Given the description of an element on the screen output the (x, y) to click on. 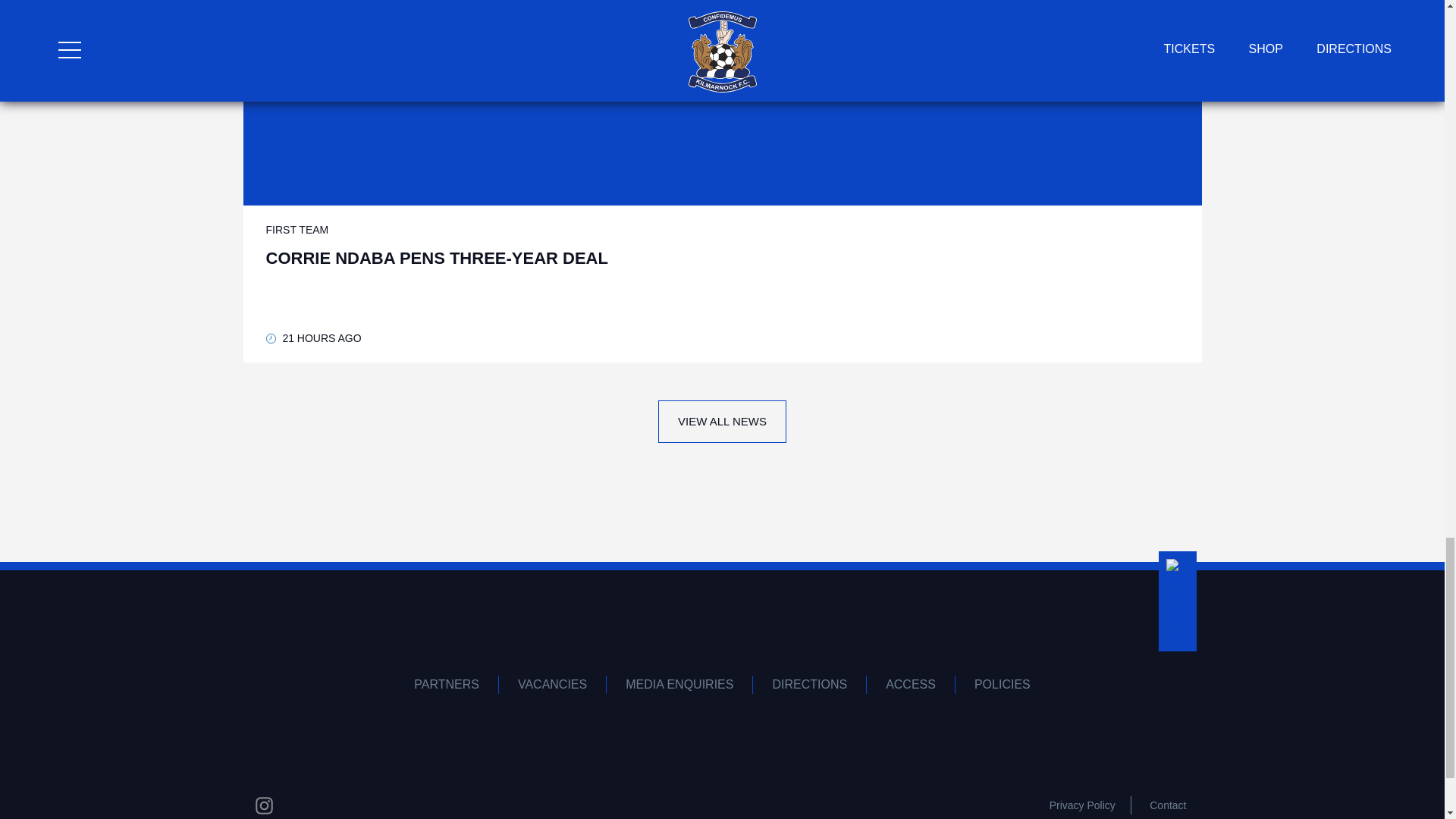
POLICIES (1002, 684)
Privacy Policy (1082, 805)
ACCESS (910, 684)
MEDIA ENQUIRIES (679, 684)
VACANCIES (553, 684)
VIEW ALL NEWS (722, 421)
PARTNERS (1167, 805)
DIRECTIONS (446, 684)
